Given the description of an element on the screen output the (x, y) to click on. 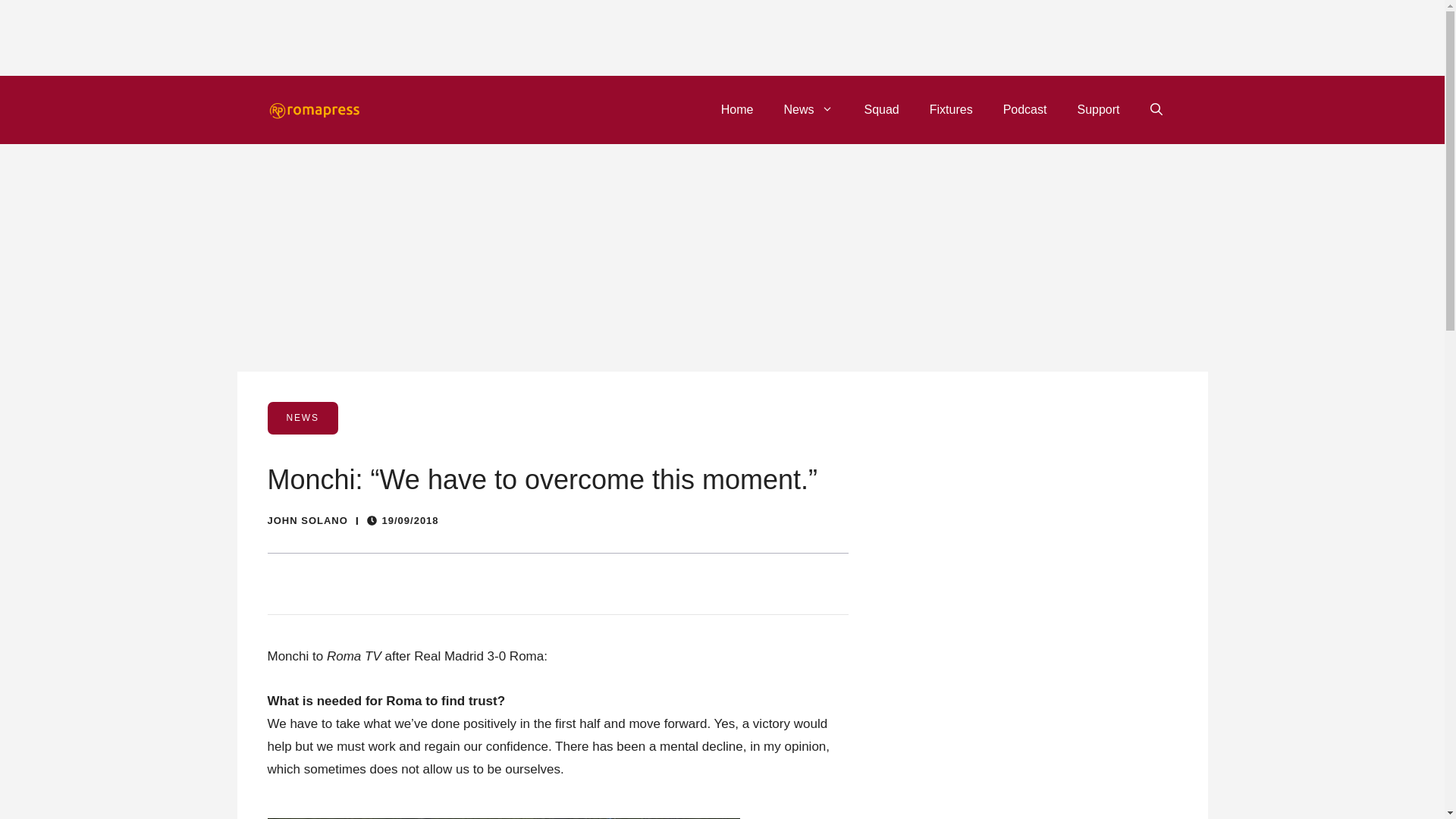
Support (1097, 109)
Fixtures (951, 109)
Home (737, 109)
News (808, 109)
Squad (881, 109)
Podcast (1025, 109)
